Given the description of an element on the screen output the (x, y) to click on. 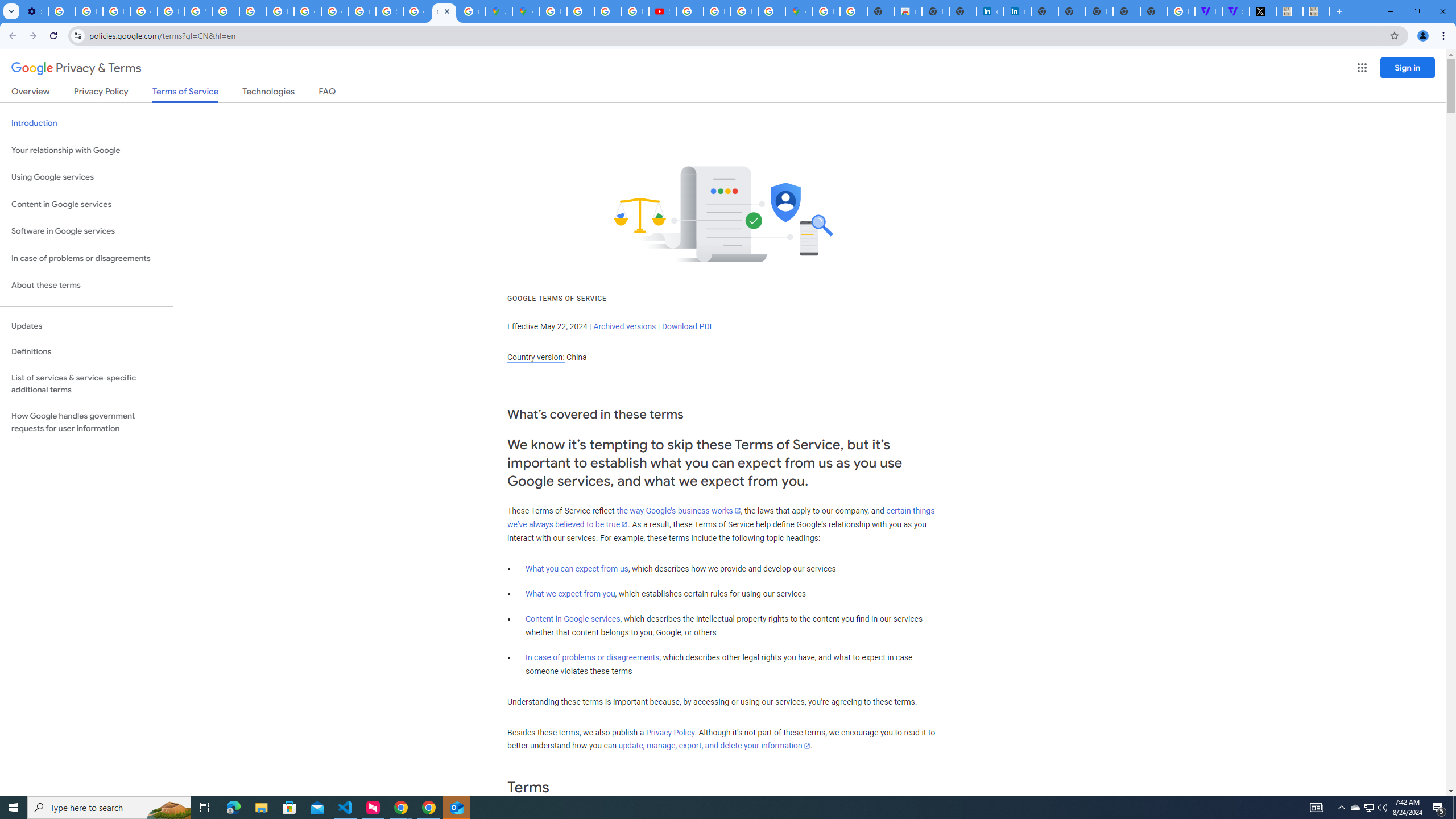
Privacy Help Center - Policies Help (170, 11)
MILEY CYRUS. (1316, 11)
Delete photos & videos - Computer - Google Photos Help (61, 11)
Cookie Policy | LinkedIn (990, 11)
